Given the description of an element on the screen output the (x, y) to click on. 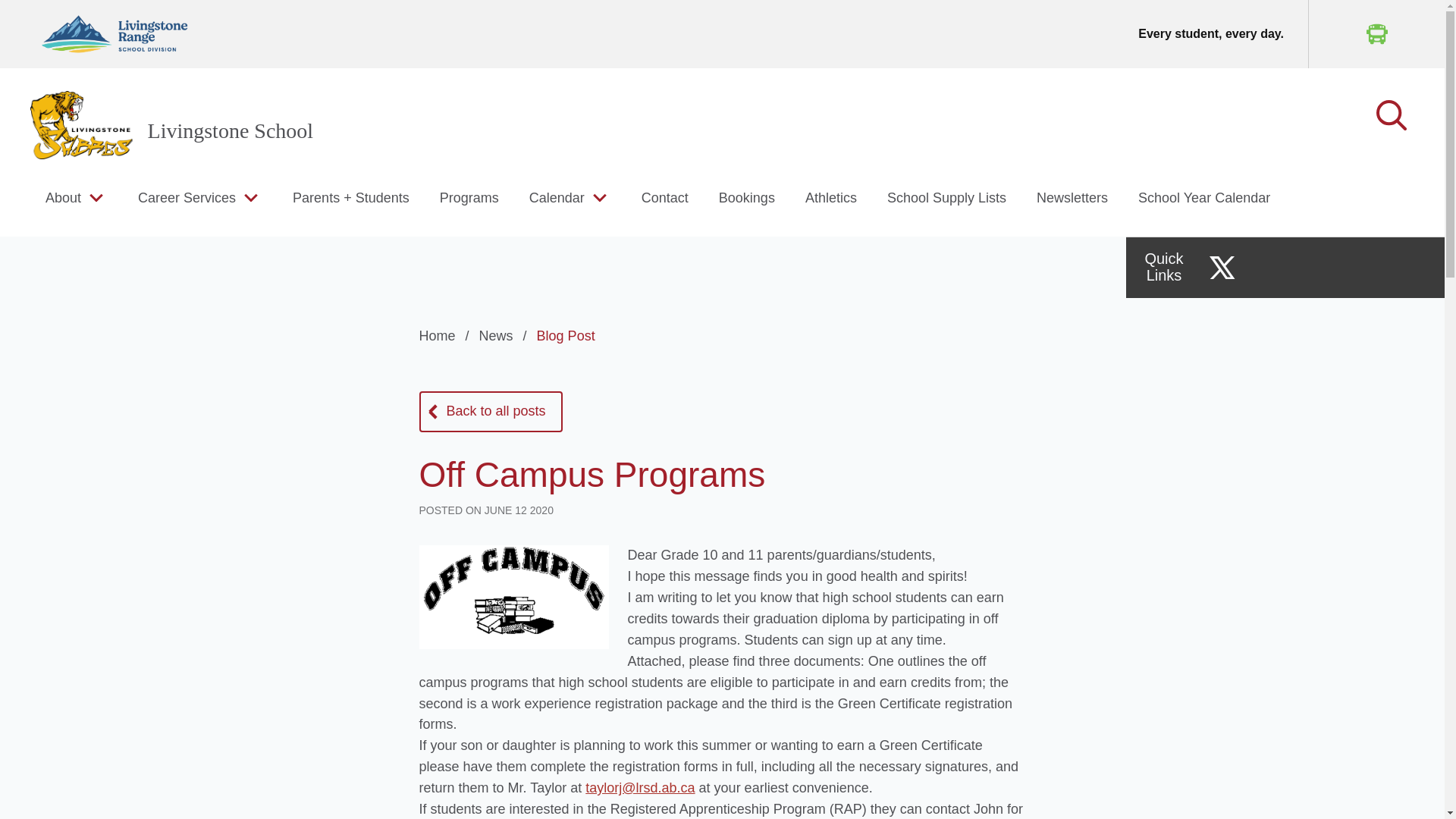
Programs (469, 197)
News (505, 335)
Calendar (557, 197)
home (81, 124)
About (63, 197)
Quick Links (1163, 267)
Bookings (746, 197)
Contact (665, 197)
Livingstone School's X (1221, 267)
Back to Blog (490, 411)
School Year Calendar (1203, 197)
Newsletters (1072, 197)
Home (446, 335)
School Supply Lists (946, 197)
Career Services (186, 197)
